Given the description of an element on the screen output the (x, y) to click on. 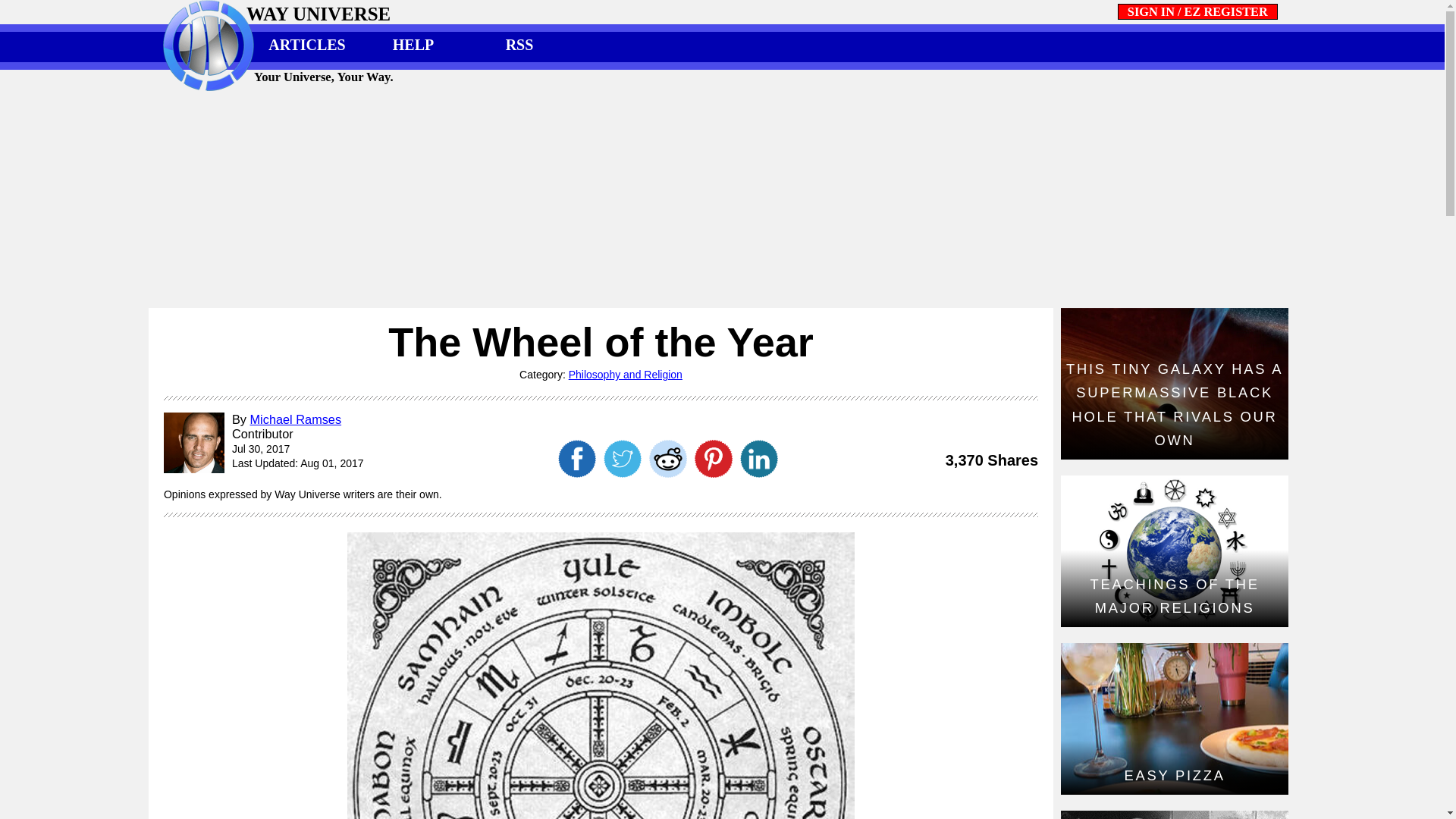
HELP (412, 46)
SHARE ON LINKEDIN (758, 472)
TEACHINGS OF THE MAJOR RELIGIONS (1174, 551)
SHARE ON FACEBOOK (576, 472)
SHARE ON REDDIT (667, 472)
Advertisement (721, 198)
SHARE ON TWITTER (622, 472)
SHARE ON PINTEREST (713, 472)
EASY PIZZA (1174, 718)
Philosophy and Religion (625, 374)
RSS (518, 46)
ARTICLES (306, 46)
Michael Ramses (296, 418)
